Given the description of an element on the screen output the (x, y) to click on. 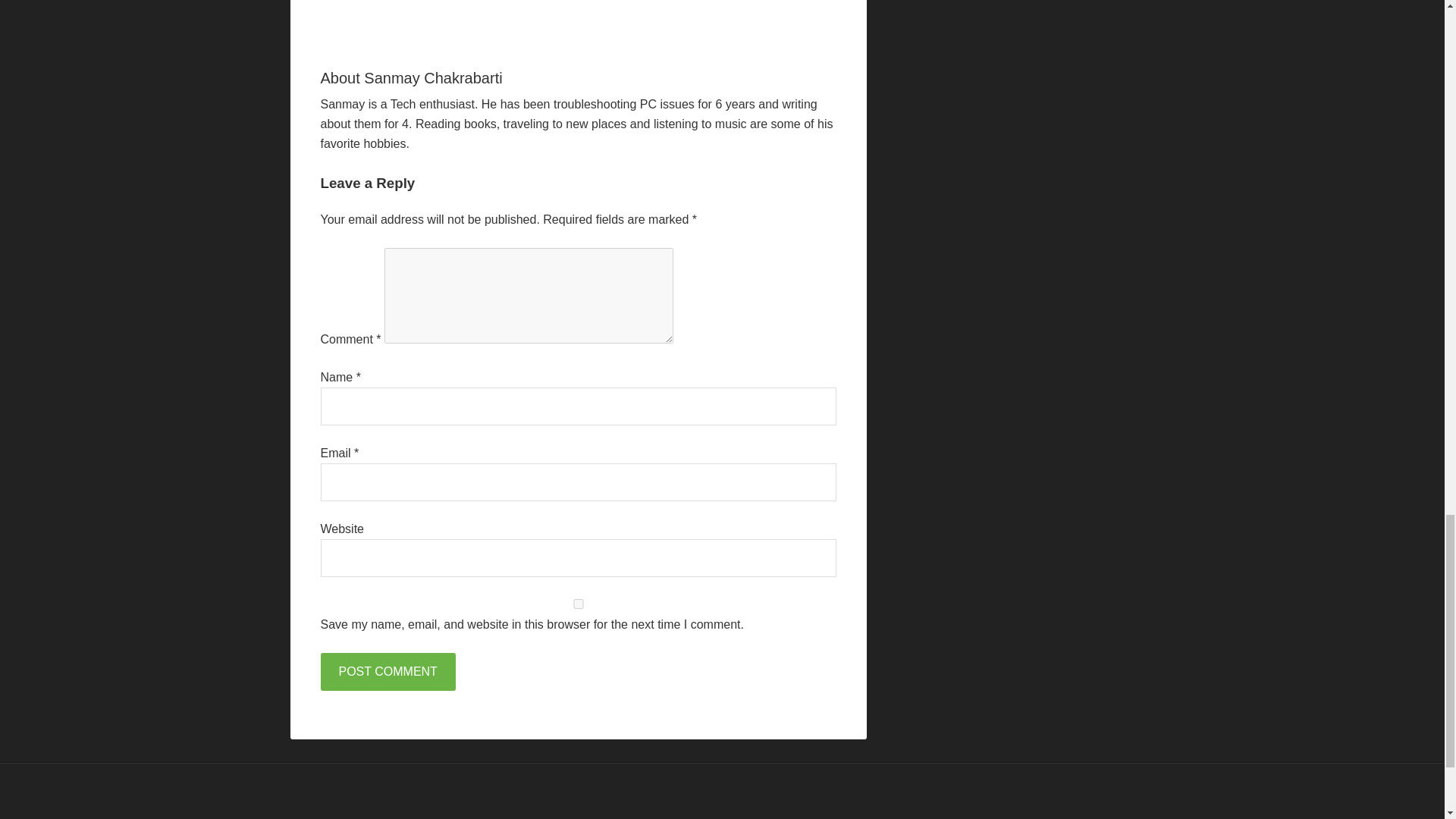
yes (577, 603)
Post Comment (387, 671)
Post Comment (387, 671)
